Given the description of an element on the screen output the (x, y) to click on. 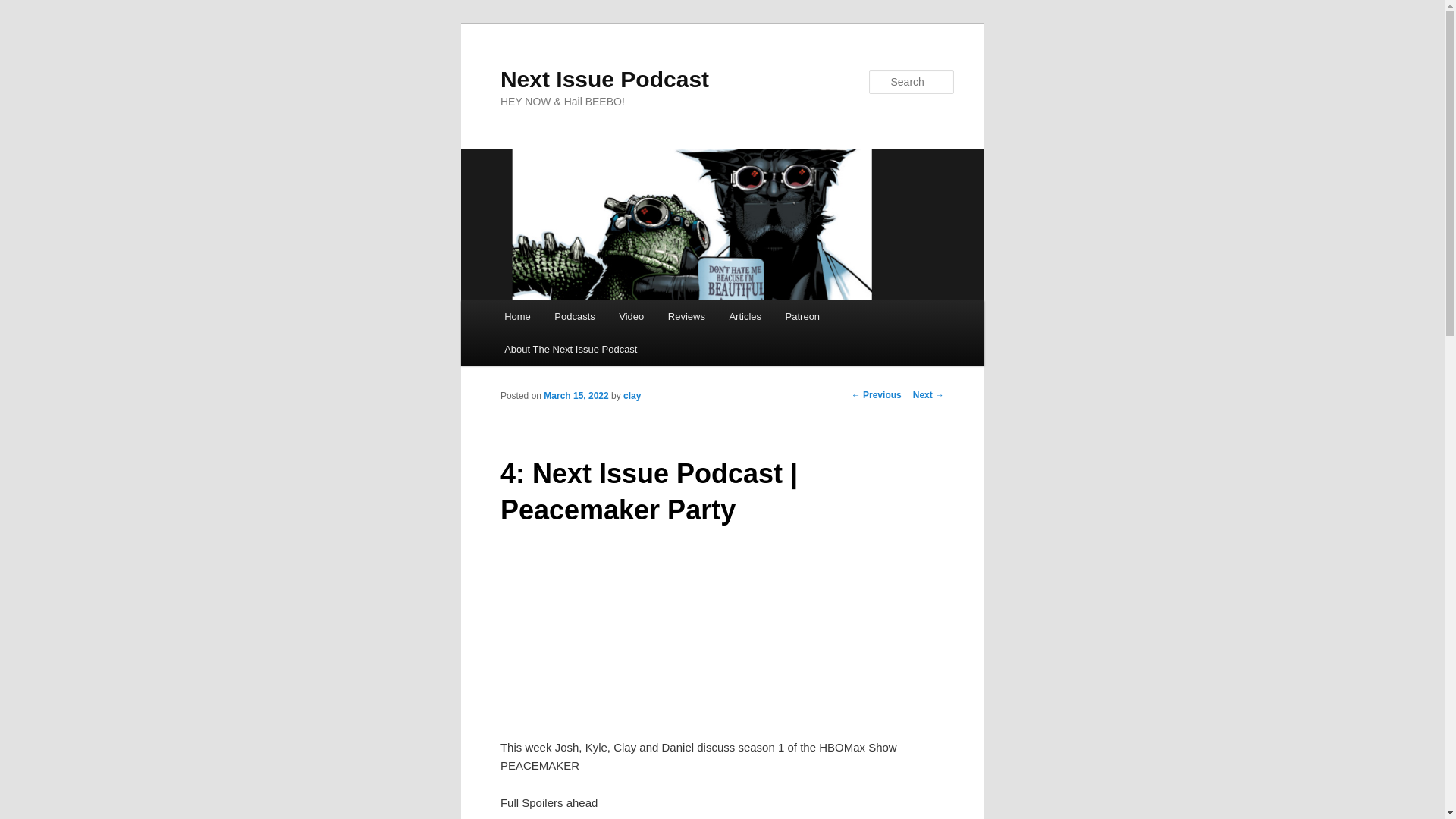
Home (516, 316)
Podcasts (575, 316)
Skip to primary content (572, 319)
Reviews (686, 316)
clay (631, 395)
Next Issue Podcast (604, 78)
March 15, 2022 (575, 395)
Next Issue Podcast (604, 78)
Skip to primary content (572, 319)
Skip to secondary content (579, 319)
